Given the description of an element on the screen output the (x, y) to click on. 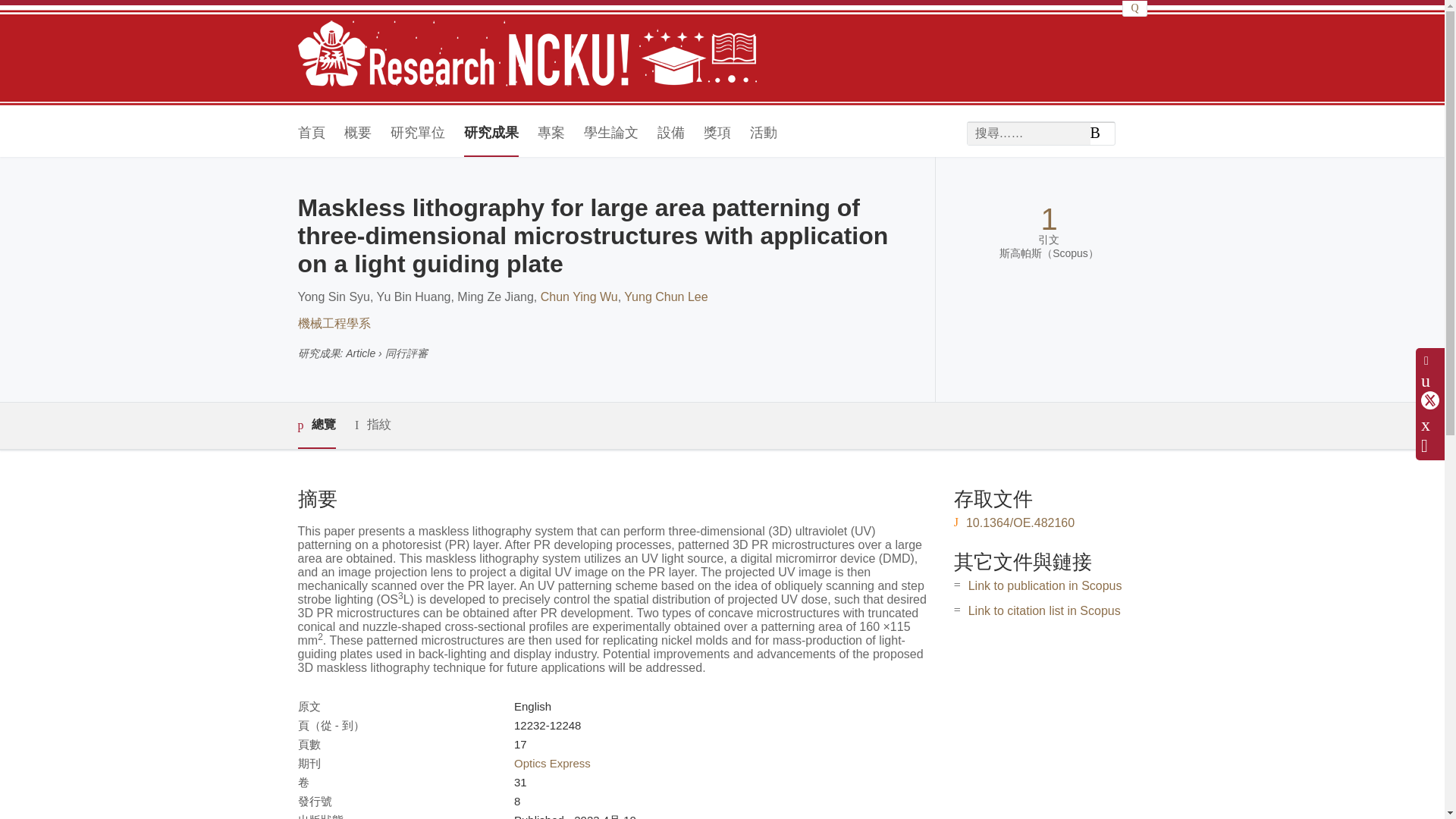
Optics Express (552, 762)
Chun Ying Wu (578, 296)
Link to publication in Scopus (1045, 585)
Yung Chun Lee (665, 296)
1 (1049, 219)
Link to citation list in Scopus (1044, 610)
